Given the description of an element on the screen output the (x, y) to click on. 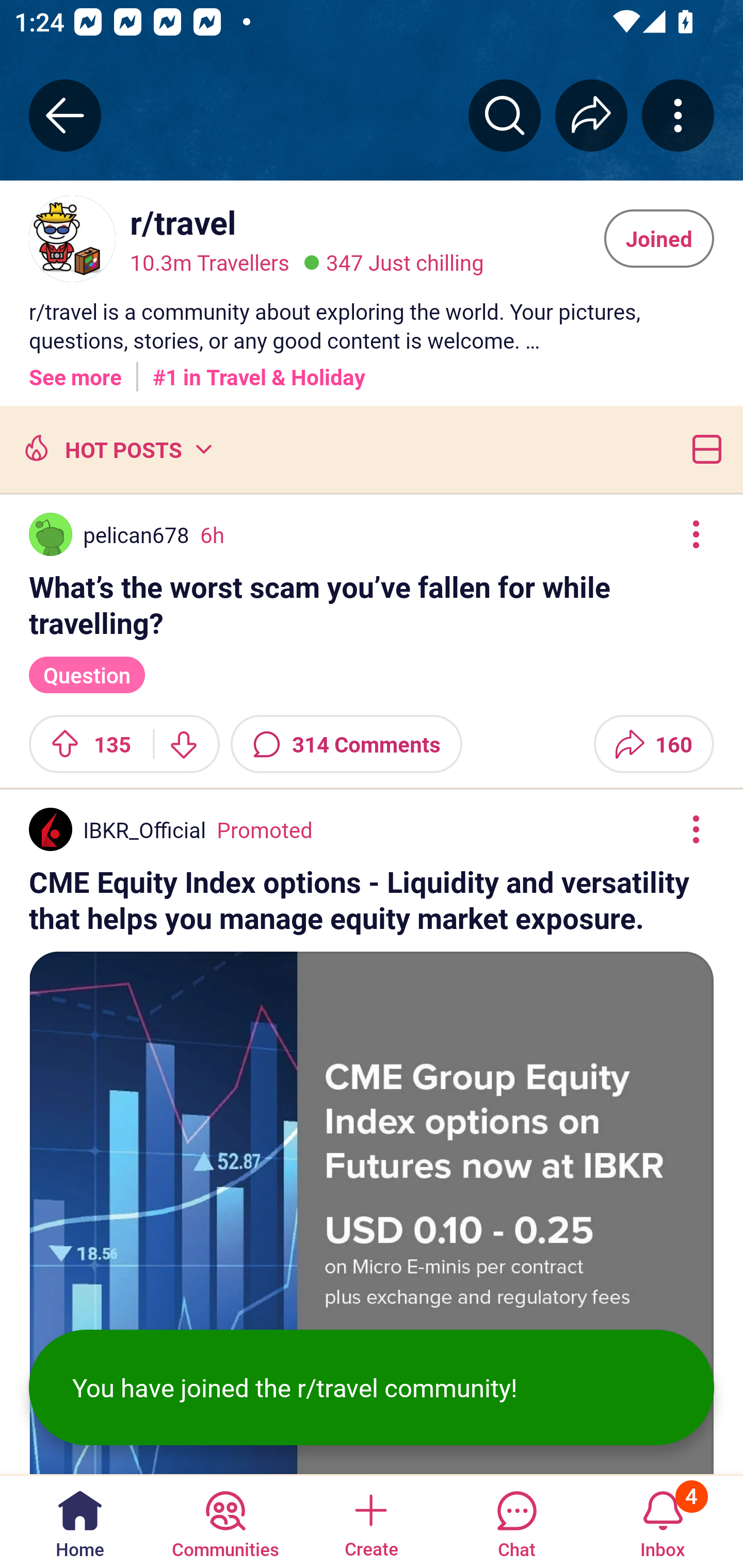
Back (64, 115)
Search r/﻿travel (504, 115)
Share r/﻿travel (591, 115)
More community actions (677, 115)
Hot posts HOT POSTS (116, 449)
Card (703, 449)
Question (86, 673)
Home (80, 1520)
Communities (225, 1520)
Create a post Create (370, 1520)
Chat (516, 1520)
Inbox, has 4 notifications 4 Inbox (662, 1520)
